Given the description of an element on the screen output the (x, y) to click on. 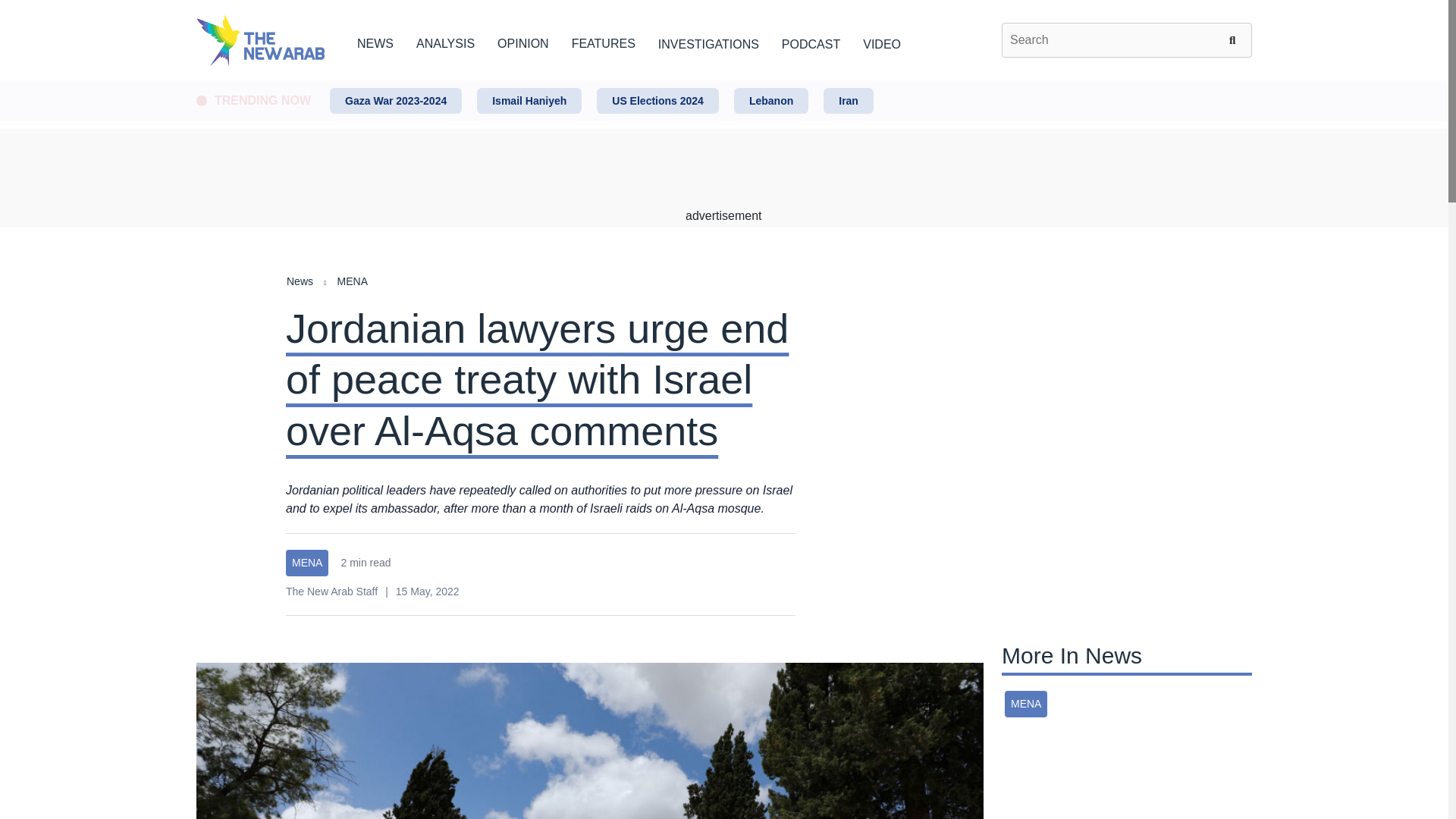
ANALYSIS (445, 41)
Search (1234, 39)
OPINION (523, 41)
NEWS (375, 41)
Skip to main content (724, 81)
